Given the description of an element on the screen output the (x, y) to click on. 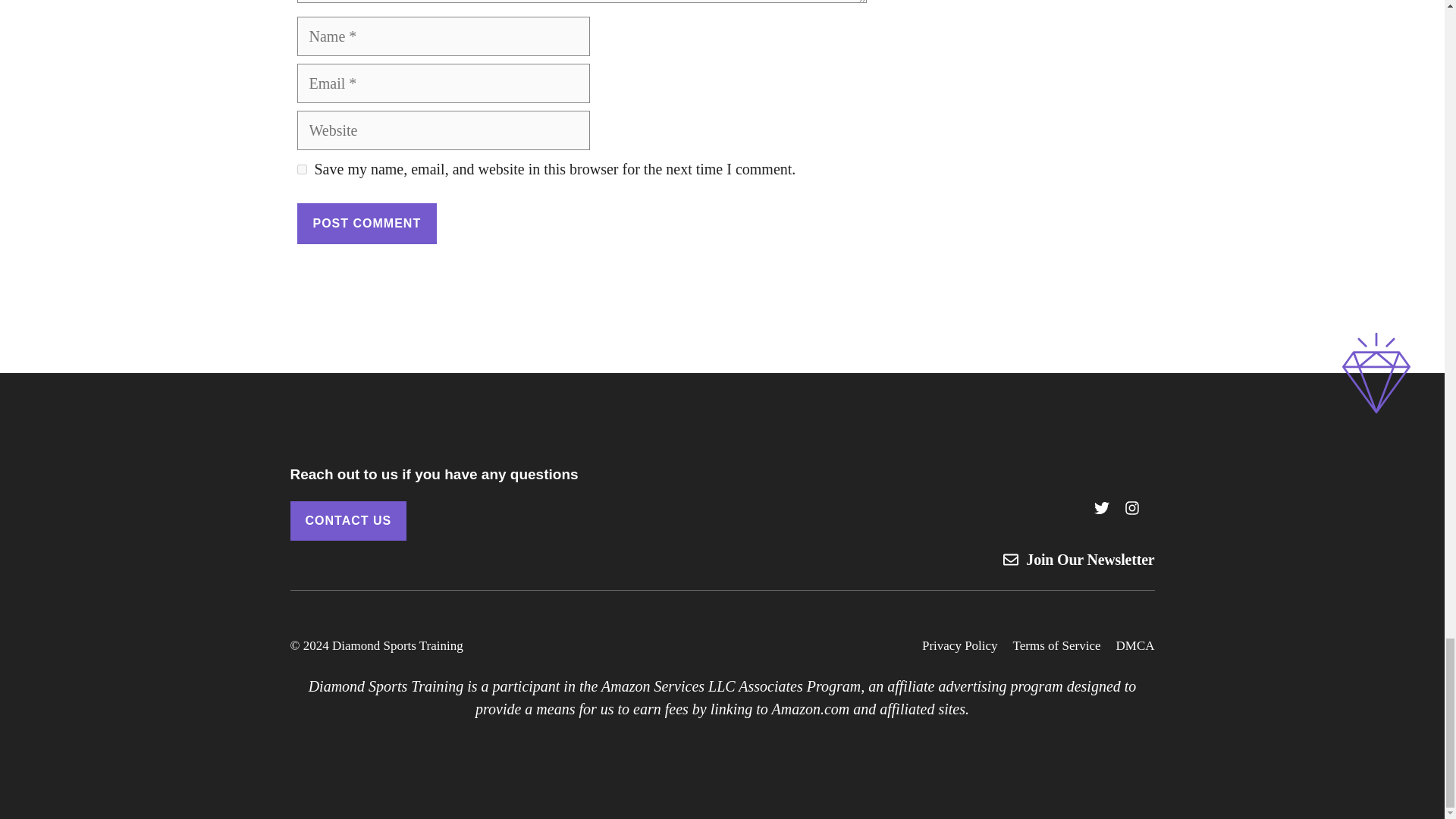
DMCA (1134, 646)
Post Comment (367, 223)
Terms of Service (1056, 646)
Join Our Newsletter (1090, 559)
Post Comment (367, 223)
Privacy Policy (959, 646)
CONTACT US (347, 520)
yes (302, 169)
